Given the description of an element on the screen output the (x, y) to click on. 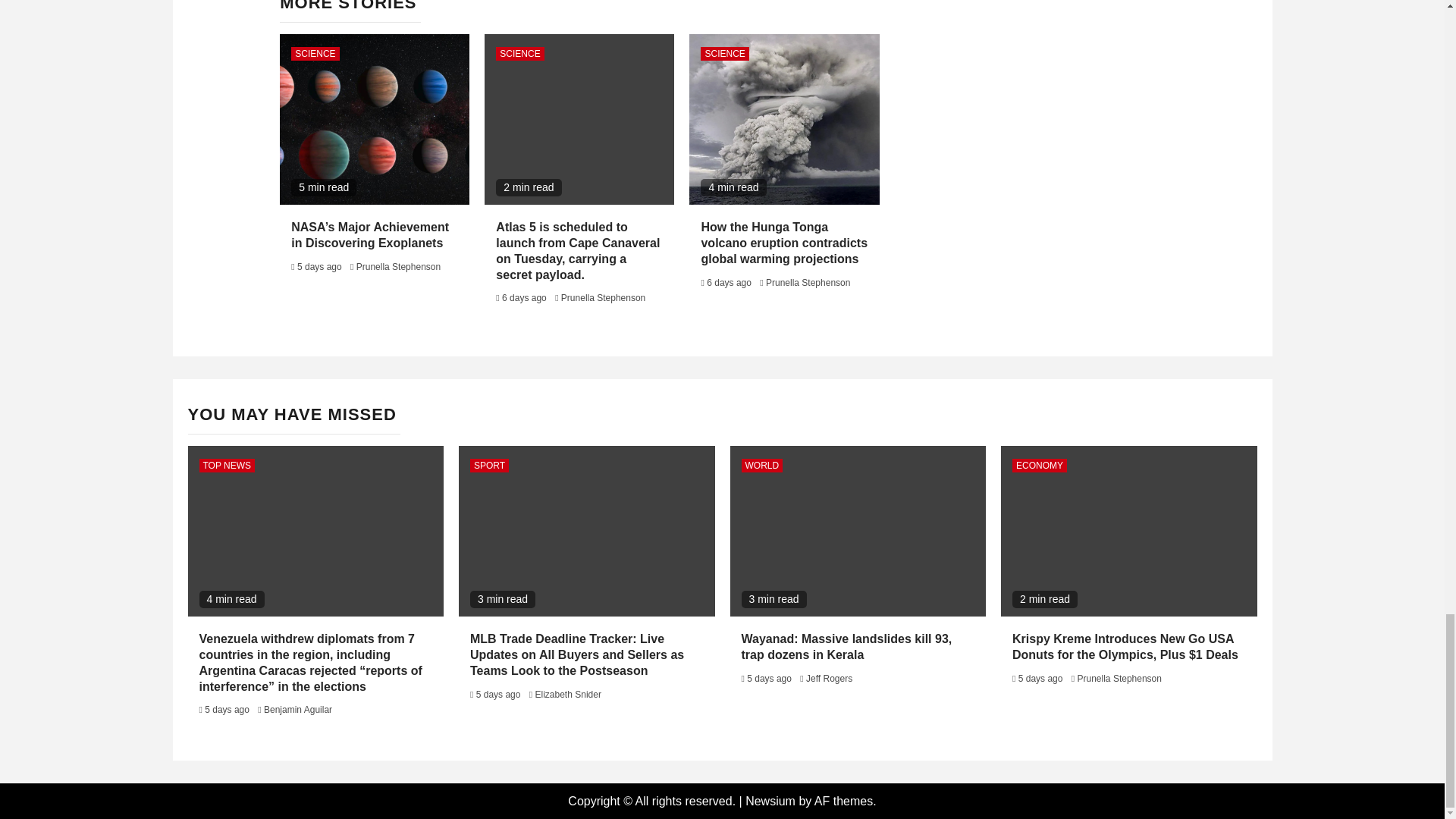
Prunella Stephenson (398, 266)
SCIENCE (519, 53)
SCIENCE (315, 53)
